Given the description of an element on the screen output the (x, y) to click on. 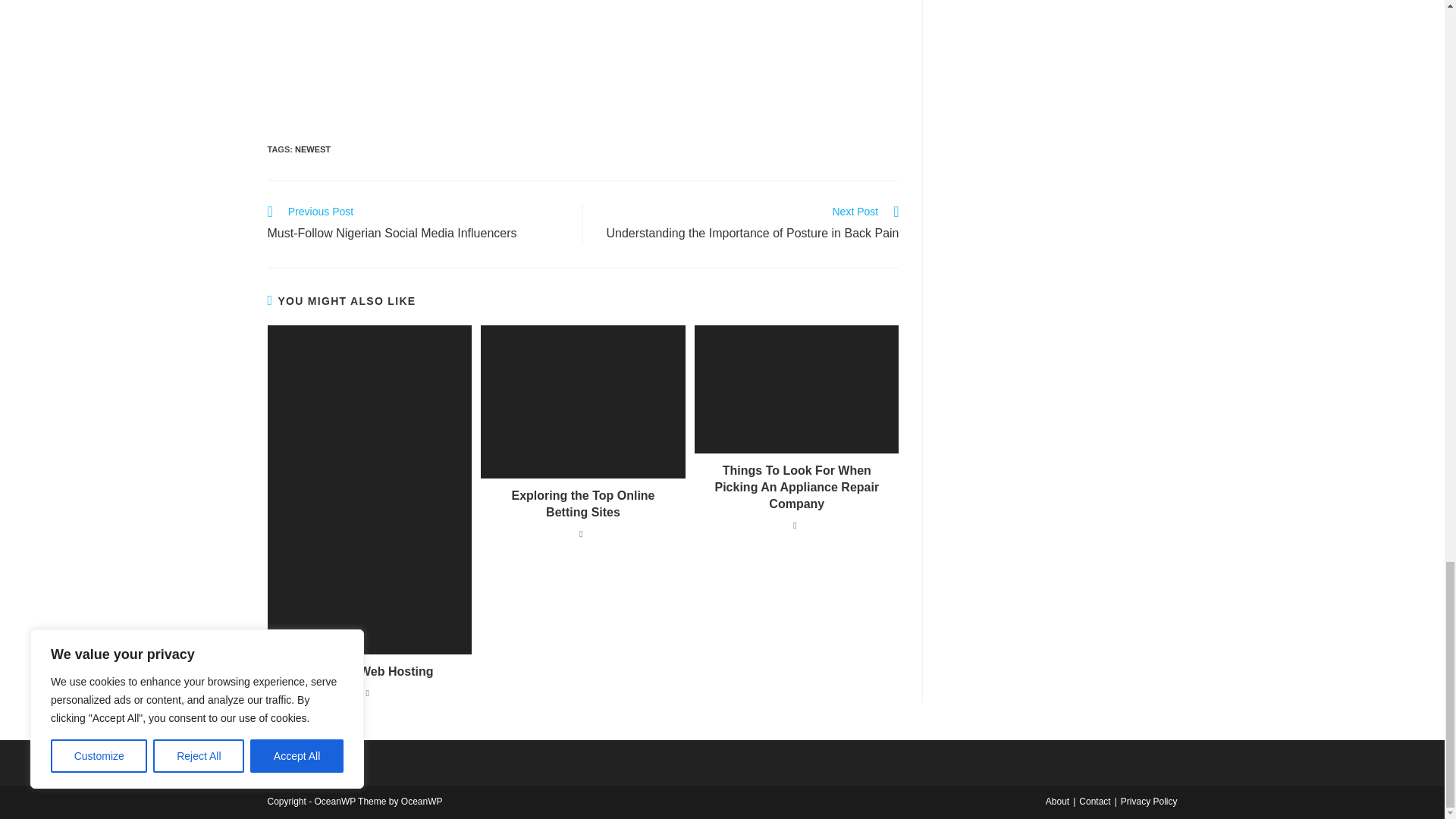
Kinds Of Web Hosting (416, 223)
NEWEST (368, 671)
